Given the description of an element on the screen output the (x, y) to click on. 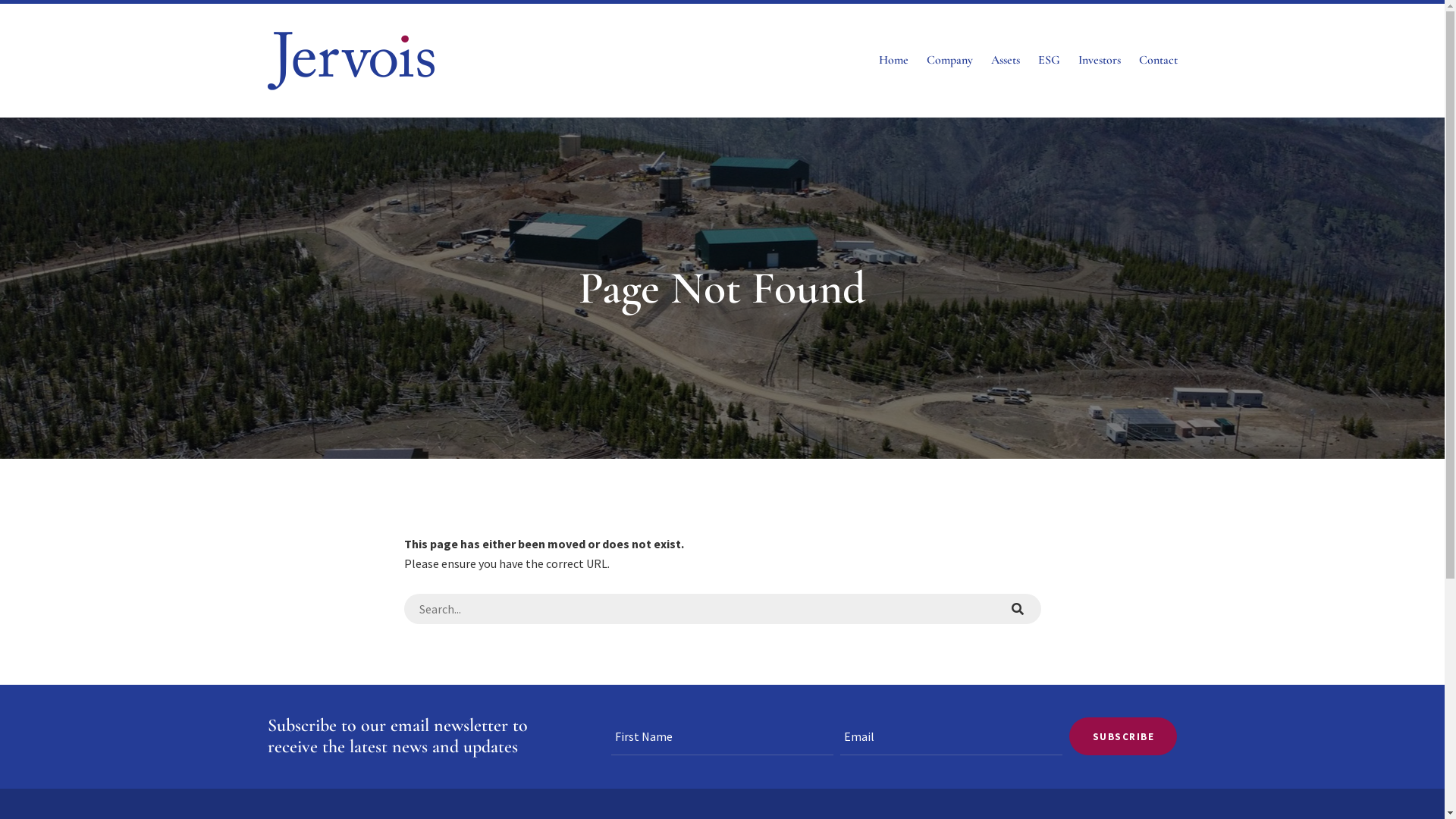
Subscribe Element type: text (1122, 736)
Assets Element type: text (1004, 59)
Contact Element type: text (1158, 59)
ESG Element type: text (1048, 59)
Home Element type: text (892, 59)
Investors Element type: text (1099, 59)
Company Element type: text (949, 59)
